Given the description of an element on the screen output the (x, y) to click on. 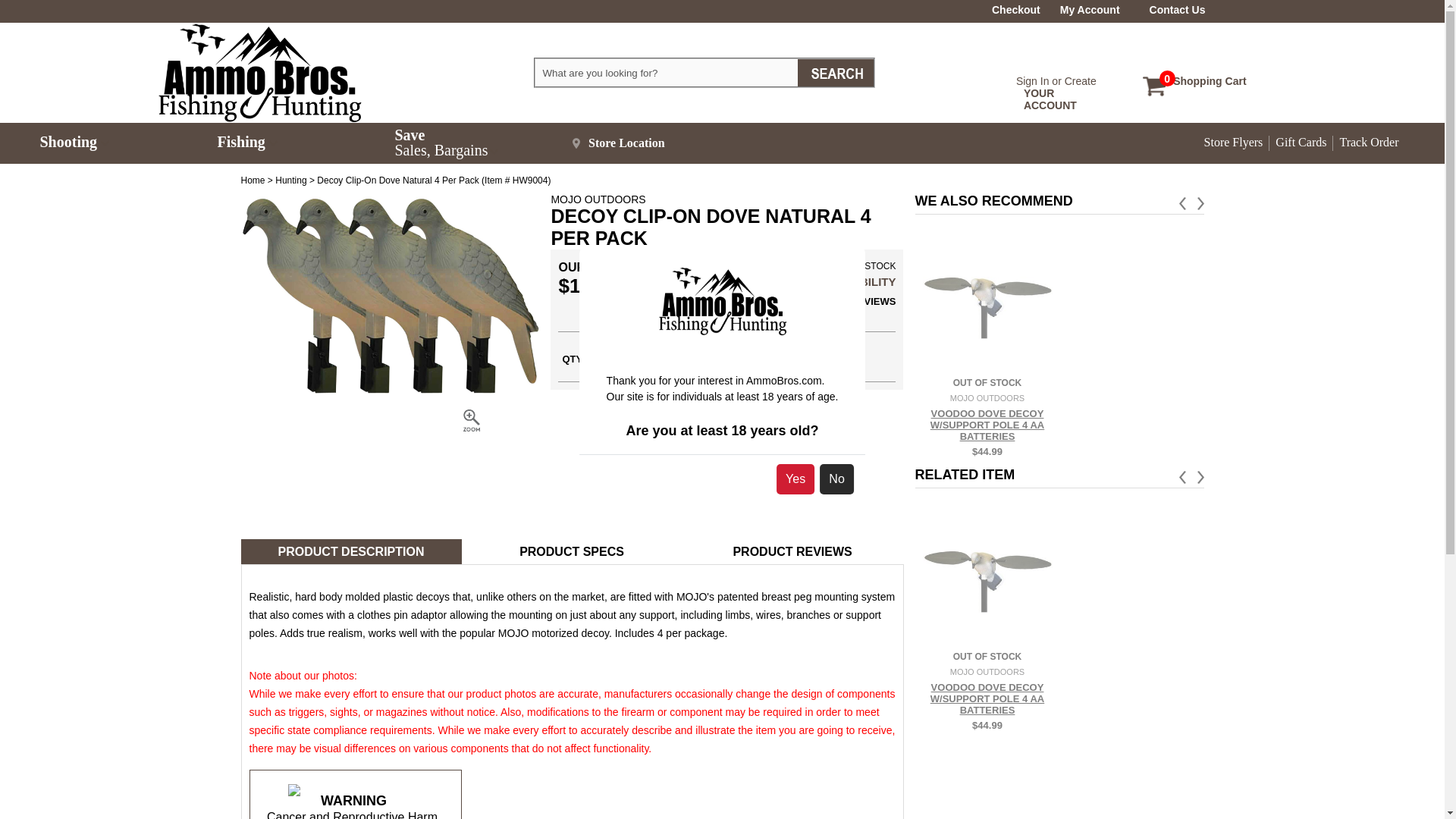
Home (252, 180)
Hunting (1202, 79)
Shooting (290, 180)
What are you looking for? (127, 142)
Checkout (666, 72)
My Account (1016, 9)
Shop Hunting products (1089, 9)
Sign In or Create (290, 180)
Contact Us (1056, 80)
CHECK STORE AVAILABILITY (1177, 9)
Home (814, 281)
ADD TO WISH LIST (252, 180)
1 (789, 356)
NOTIFY ME (603, 357)
